Given the description of an element on the screen output the (x, y) to click on. 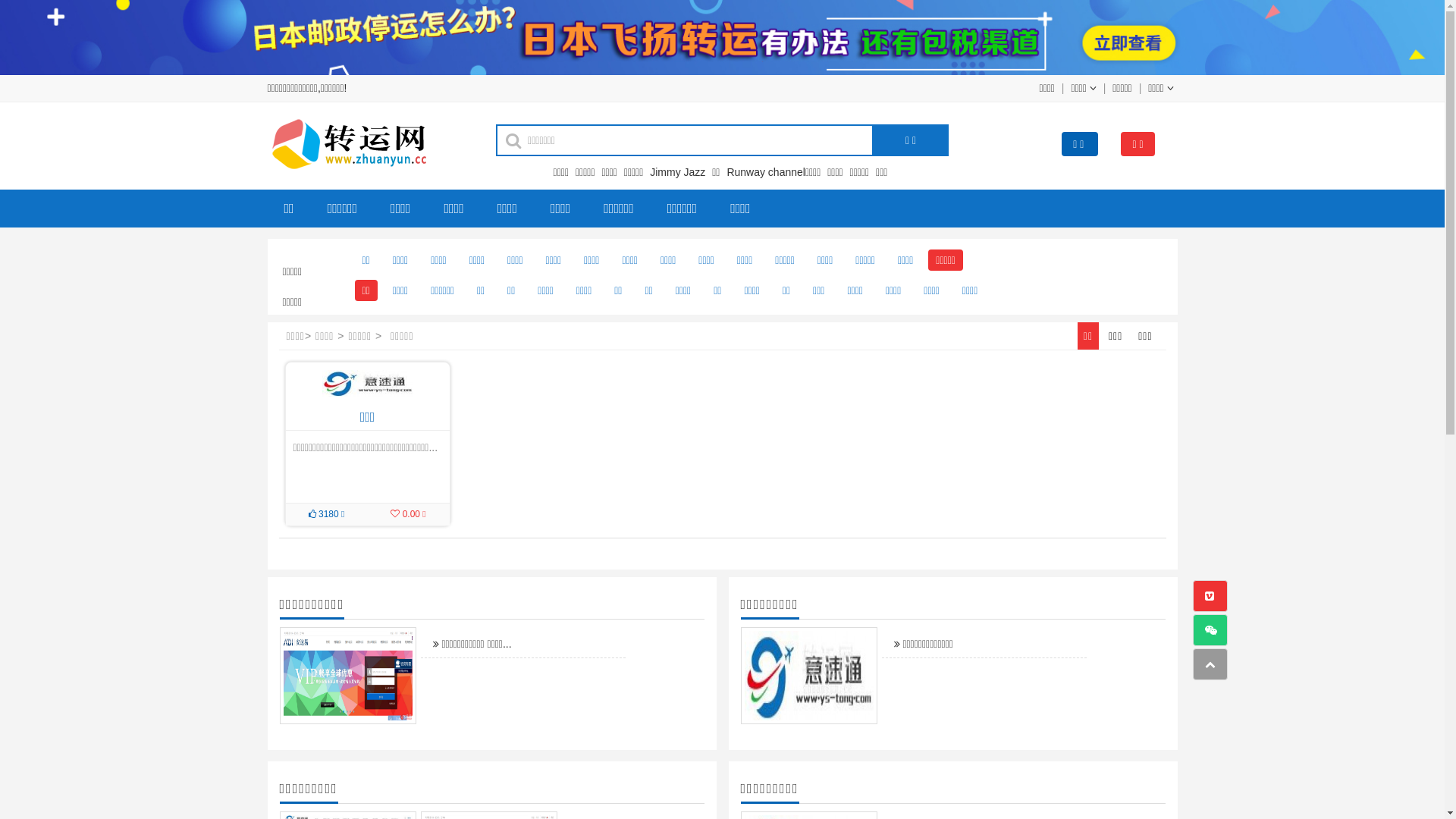
Jimmy Jazz Element type: text (679, 172)
